Given the description of an element on the screen output the (x, y) to click on. 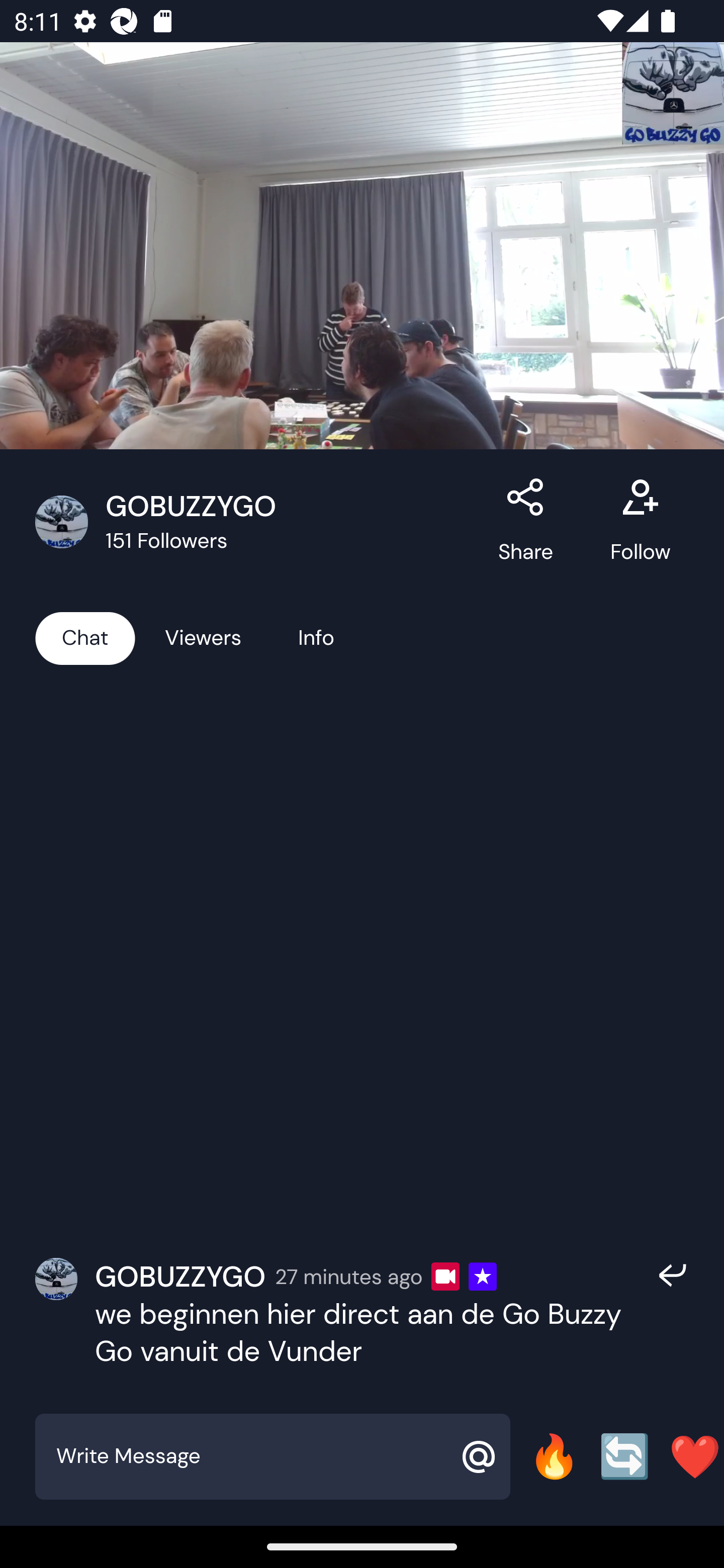
GOBUZZYGO, 151 Followers GOBUZZYGO 151 Followers (256, 521)
Share (525, 521)
Follow (640, 521)
Chat (84, 636)
Viewers (203, 636)
Info (316, 636)
GOBUZZYGO (179, 1276)
Write Message (250, 1456)
🔥 (553, 1456)
🔄 (624, 1456)
❤️ (694, 1456)
